Given the description of an element on the screen output the (x, y) to click on. 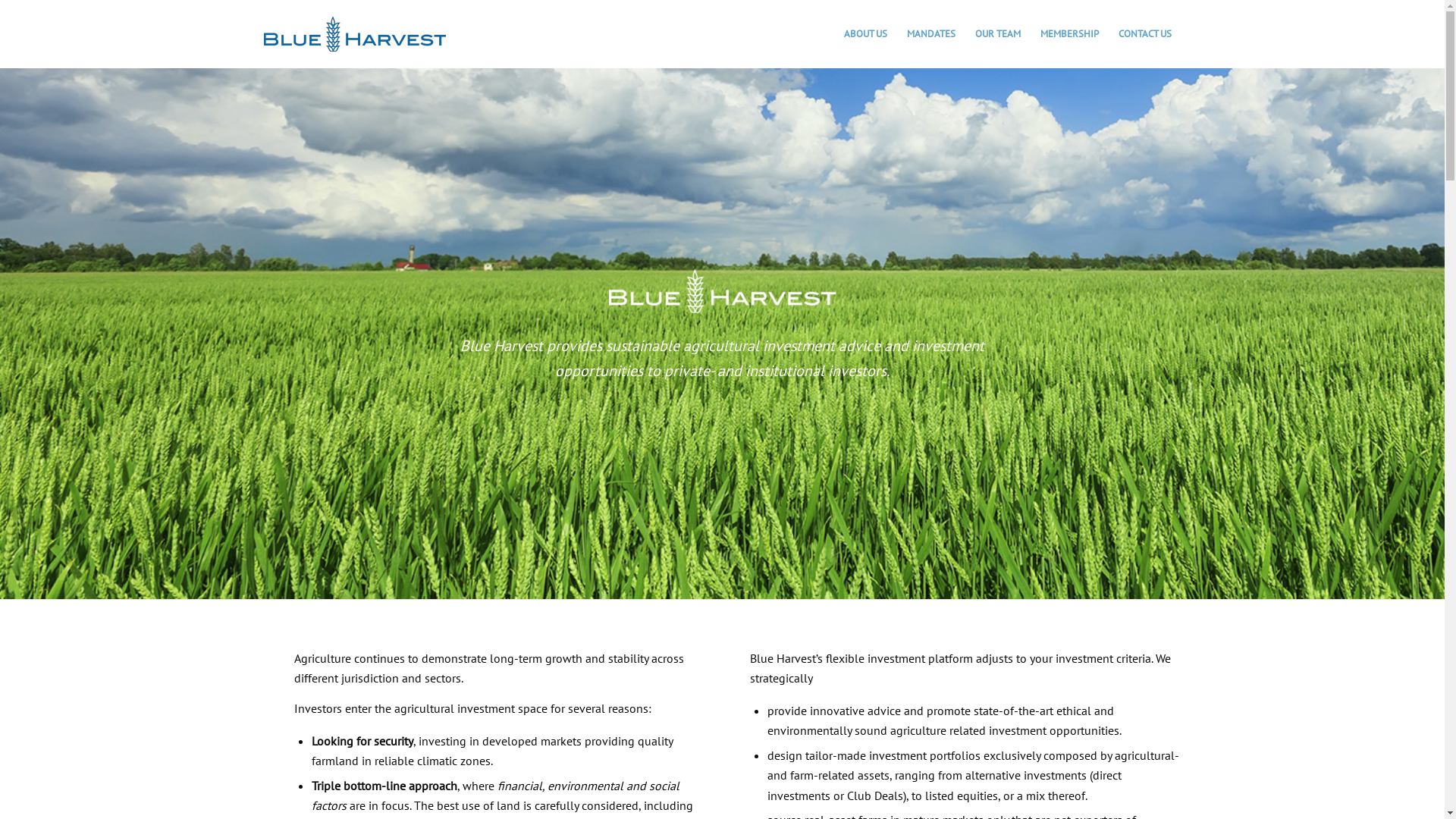
OUR TEAM Element type: text (996, 34)
logo blanc Element type: hover (721, 291)
ABOUT US Element type: text (865, 34)
MEMBERSHIP Element type: text (1068, 34)
CONTACT US Element type: text (1144, 34)
MANDATES Element type: text (930, 34)
